Given the description of an element on the screen output the (x, y) to click on. 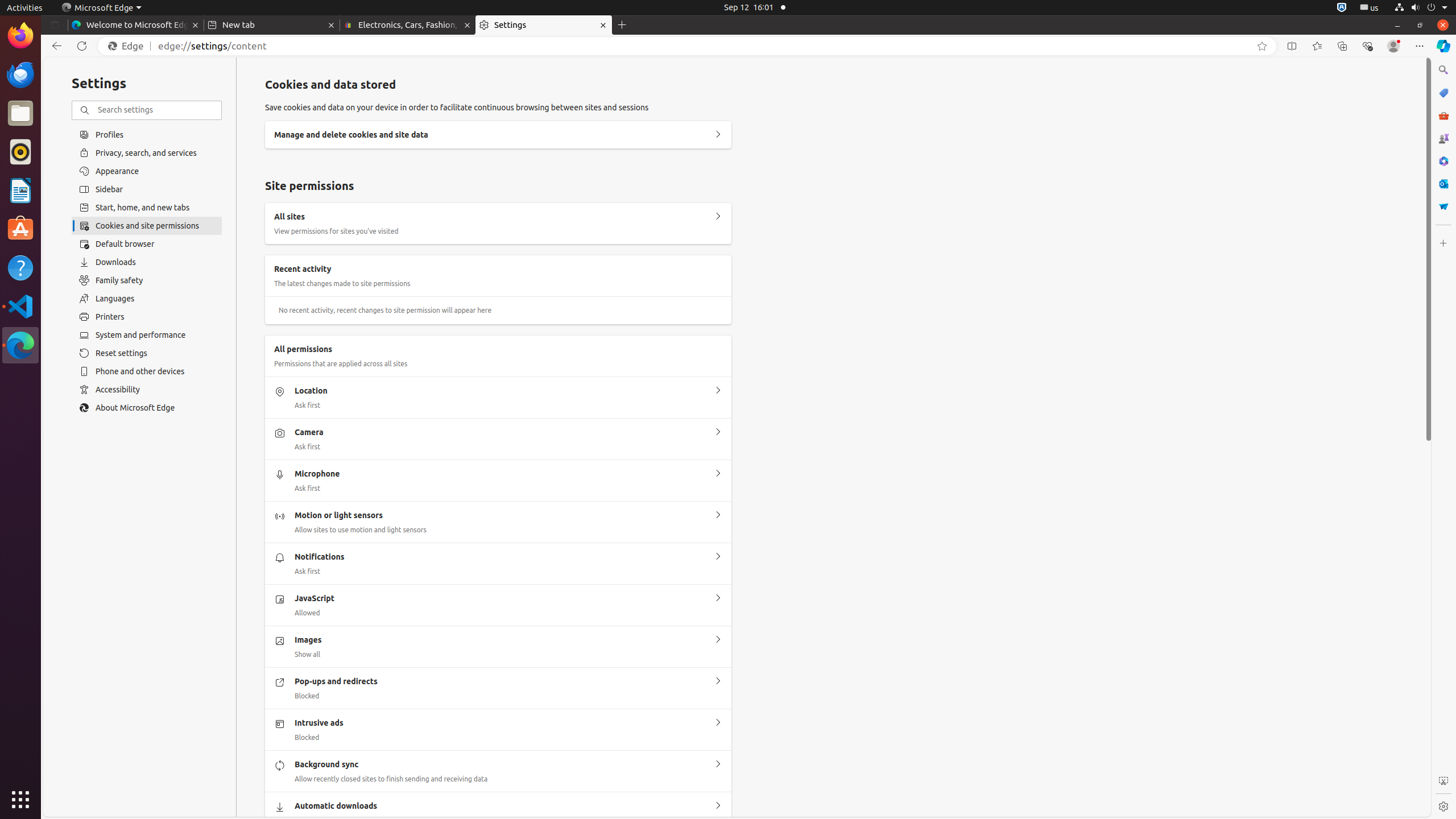
Collections Element type: push-button (1341, 45)
Camera Element type: push-button (717, 432)
Tab actions menu Element type: push-button (54, 24)
Copilot (Ctrl+Shift+.) Element type: push-button (1443, 45)
Default browser Element type: tree-item (146, 243)
